Given the description of an element on the screen output the (x, y) to click on. 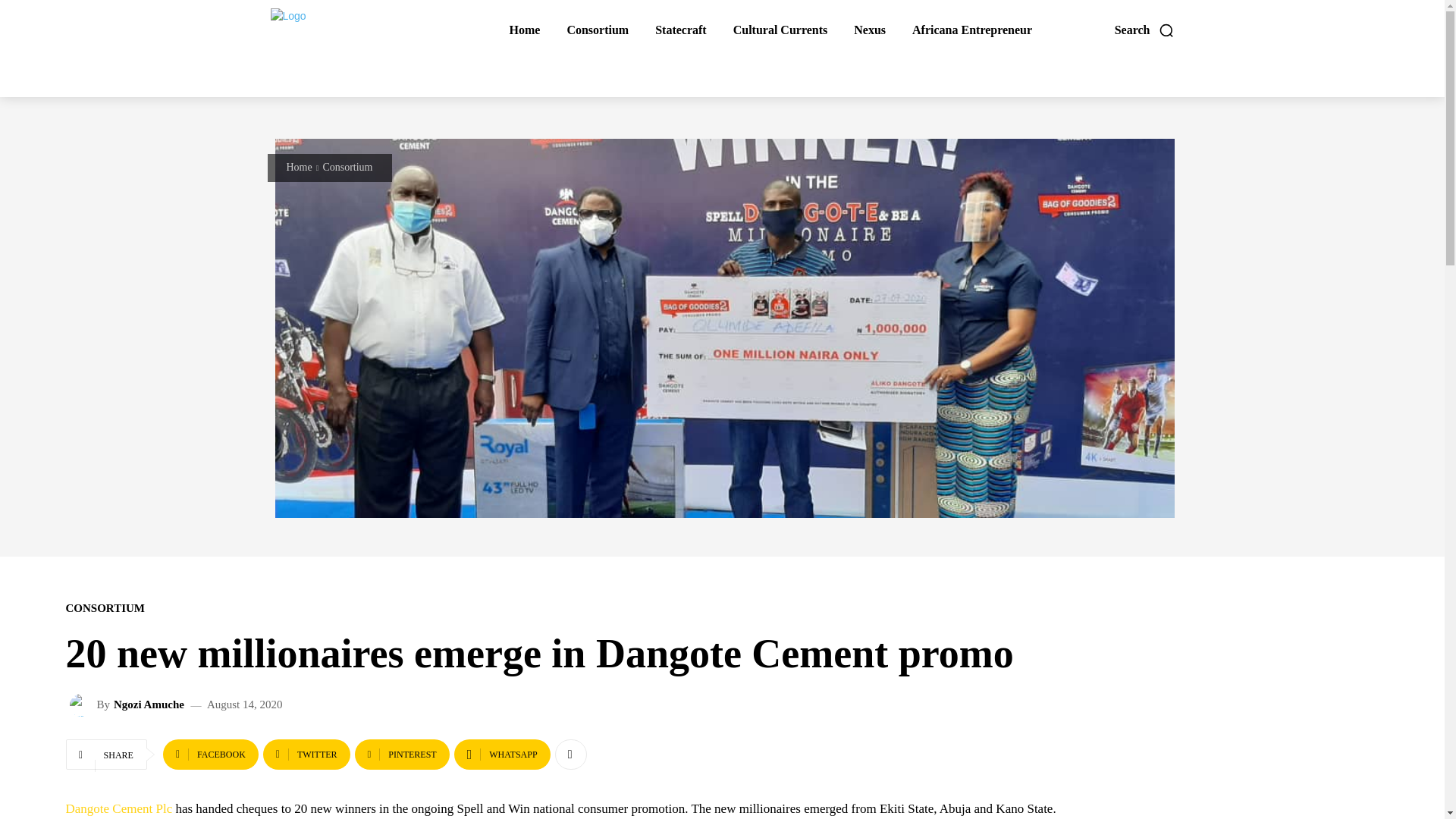
More (570, 754)
Home (299, 166)
Search (1144, 30)
Consortium (596, 30)
TWITTER (306, 754)
Pinterest (402, 754)
Facebook (211, 754)
CONSORTIUM (104, 608)
PINTEREST (402, 754)
FACEBOOK (211, 754)
Consortium (346, 166)
Twitter (306, 754)
WhatsApp (502, 754)
Ngozi Amuche (148, 704)
Cultural Currents (780, 30)
